Given the description of an element on the screen output the (x, y) to click on. 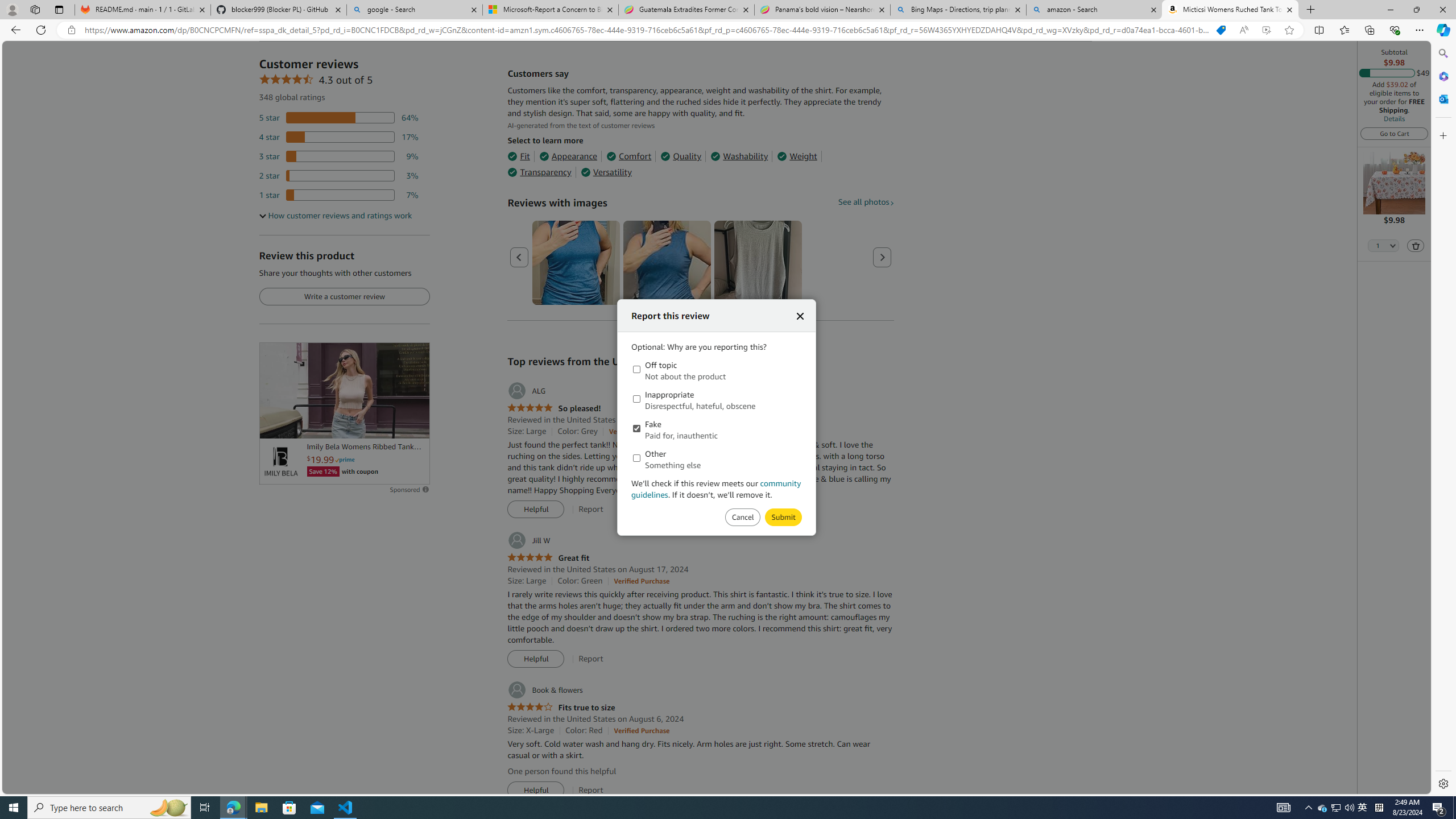
Weight (796, 156)
Logo (280, 461)
Sponsored ad (344, 390)
